Given the description of an element on the screen output the (x, y) to click on. 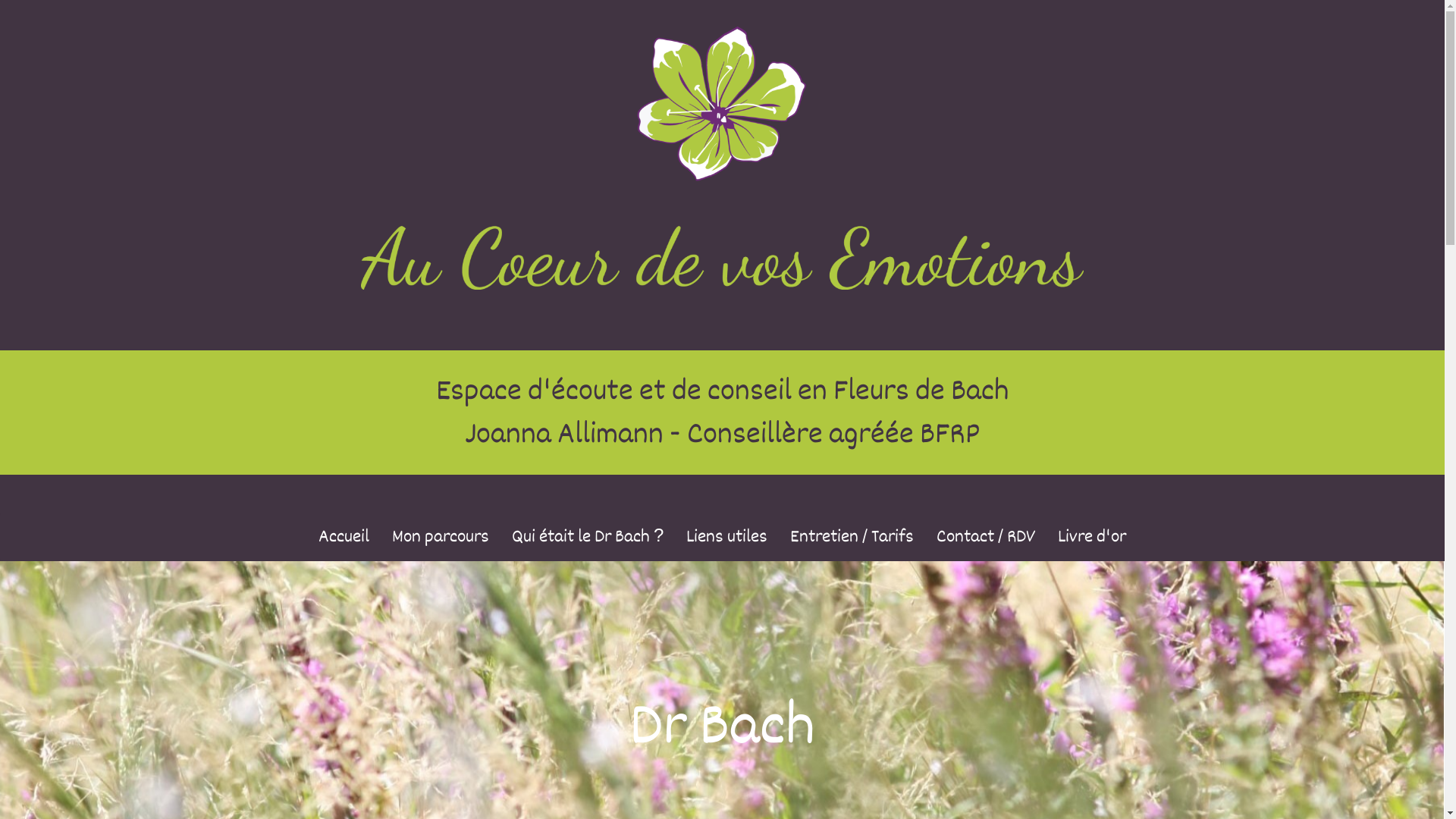
Entretien / Tarifs Element type: text (851, 536)
Mon parcours Element type: text (440, 536)
Accueil Element type: text (343, 536)
Livre d'or Element type: text (1091, 536)
Liens utiles Element type: text (726, 536)
Contact / RDV Element type: text (985, 536)
